Given the description of an element on the screen output the (x, y) to click on. 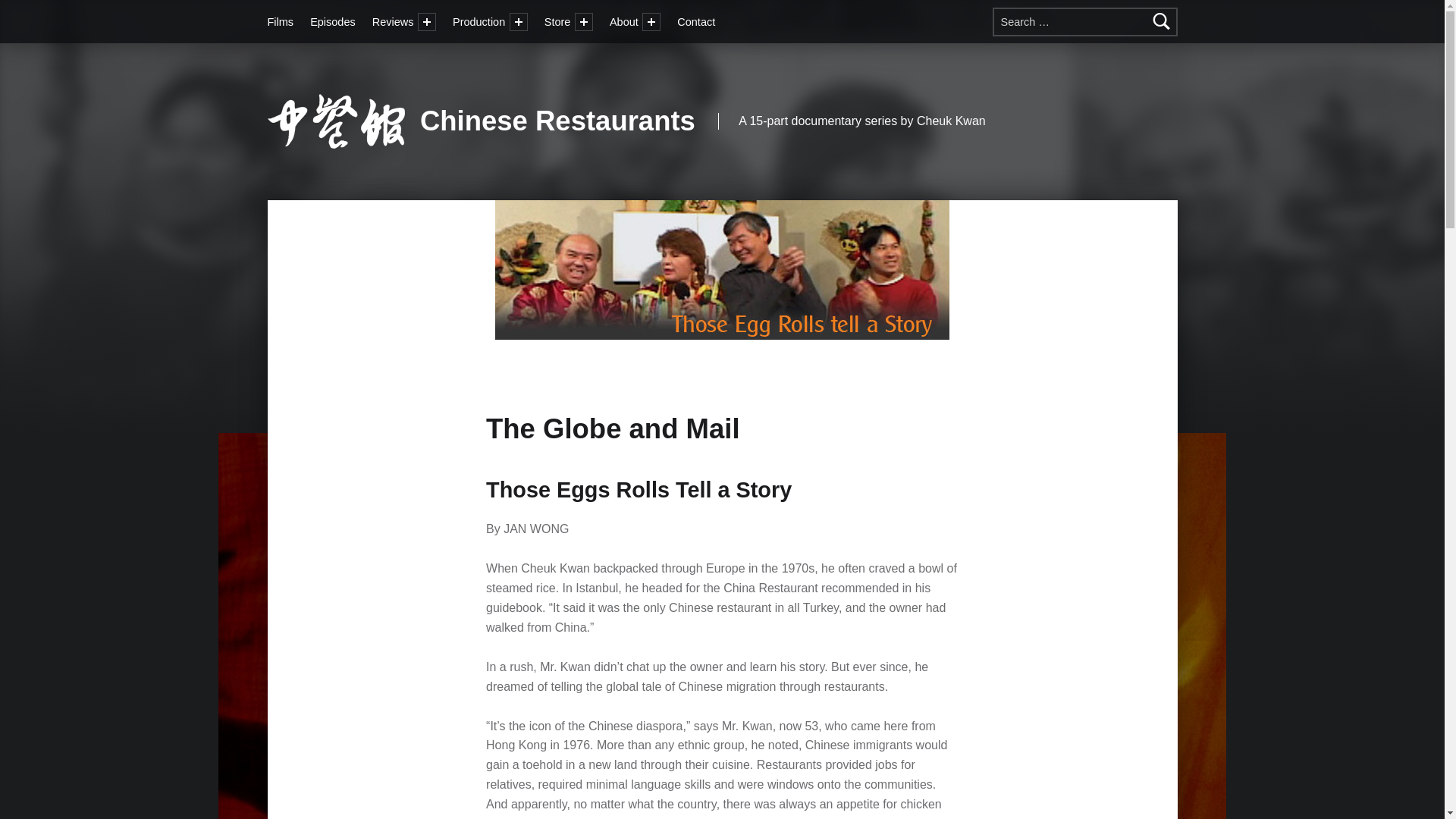
Search (1162, 21)
About (626, 21)
Search (1162, 21)
Reviews (394, 21)
Episodes (332, 21)
Contact (695, 21)
Chinese Restaurants (557, 120)
Production (480, 21)
Search (1162, 21)
